Given the description of an element on the screen output the (x, y) to click on. 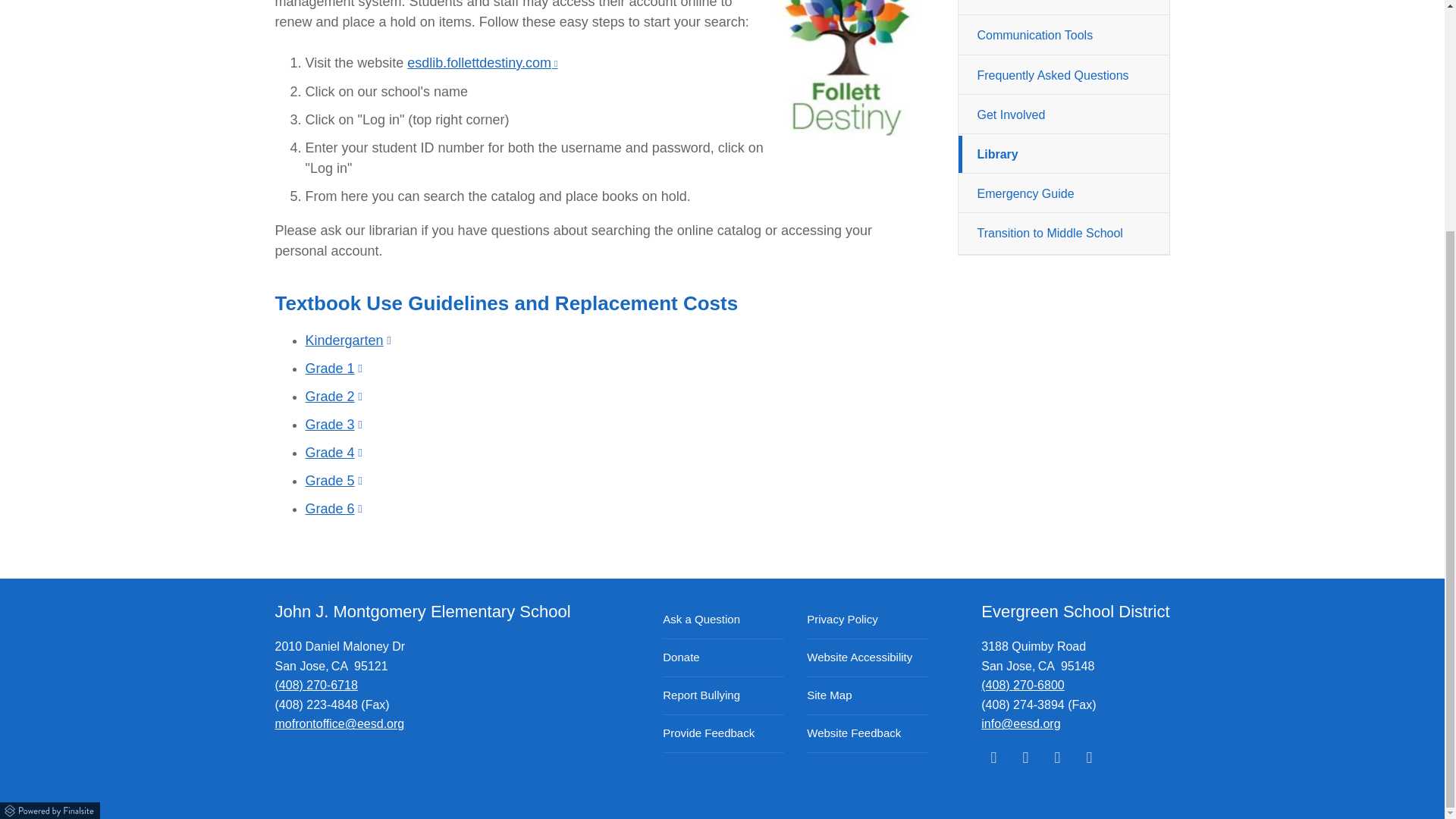
Email (339, 723)
Email (1020, 723)
Powered by Finalsite opens in a new window (50, 808)
